Given the description of an element on the screen output the (x, y) to click on. 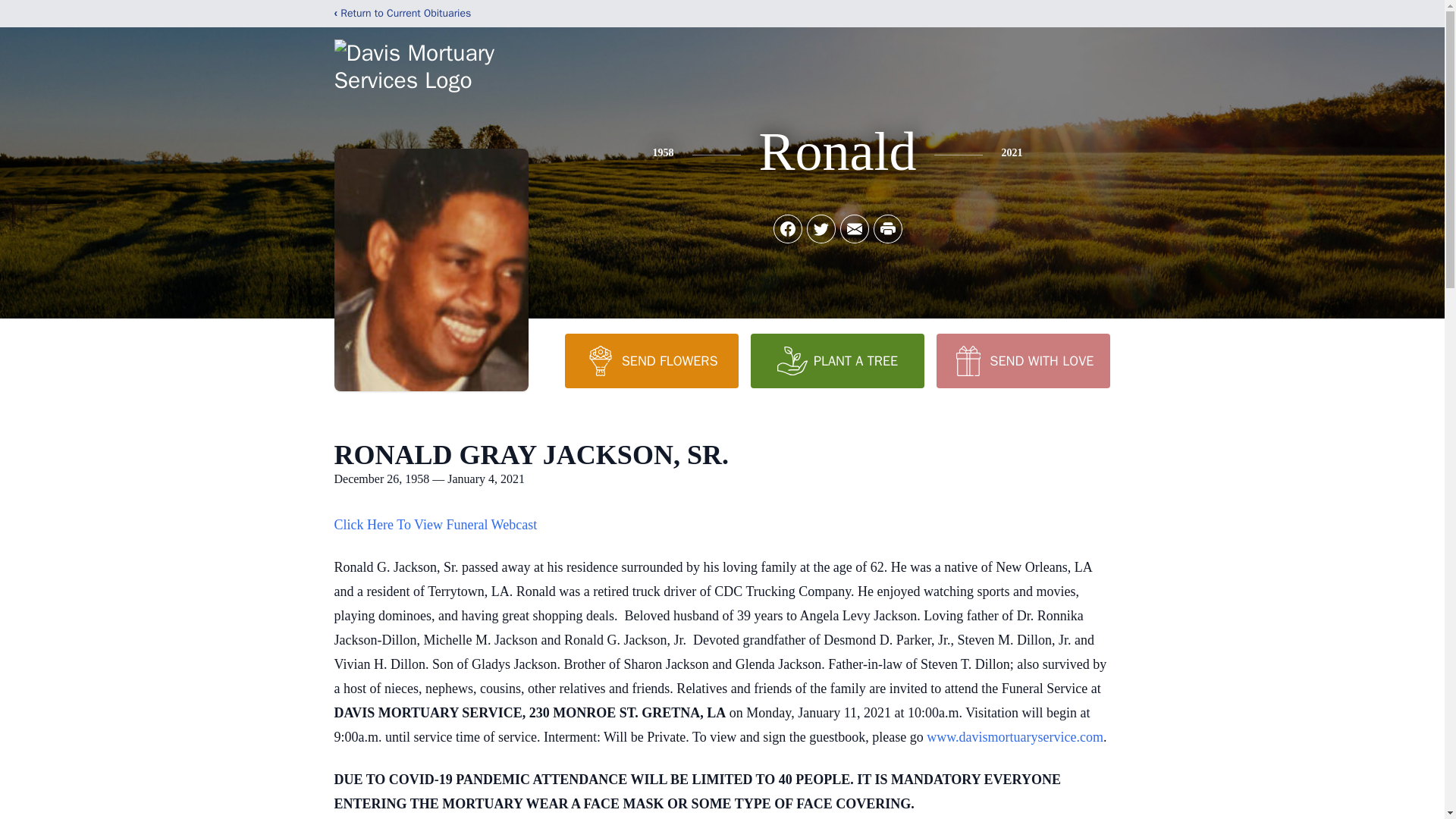
SEND FLOWERS (651, 360)
Click Here To View Funeral Webcast (435, 524)
www.davismortuaryservice.com (1014, 736)
PLANT A TREE (837, 360)
SEND WITH LOVE (1022, 360)
